Given the description of an element on the screen output the (x, y) to click on. 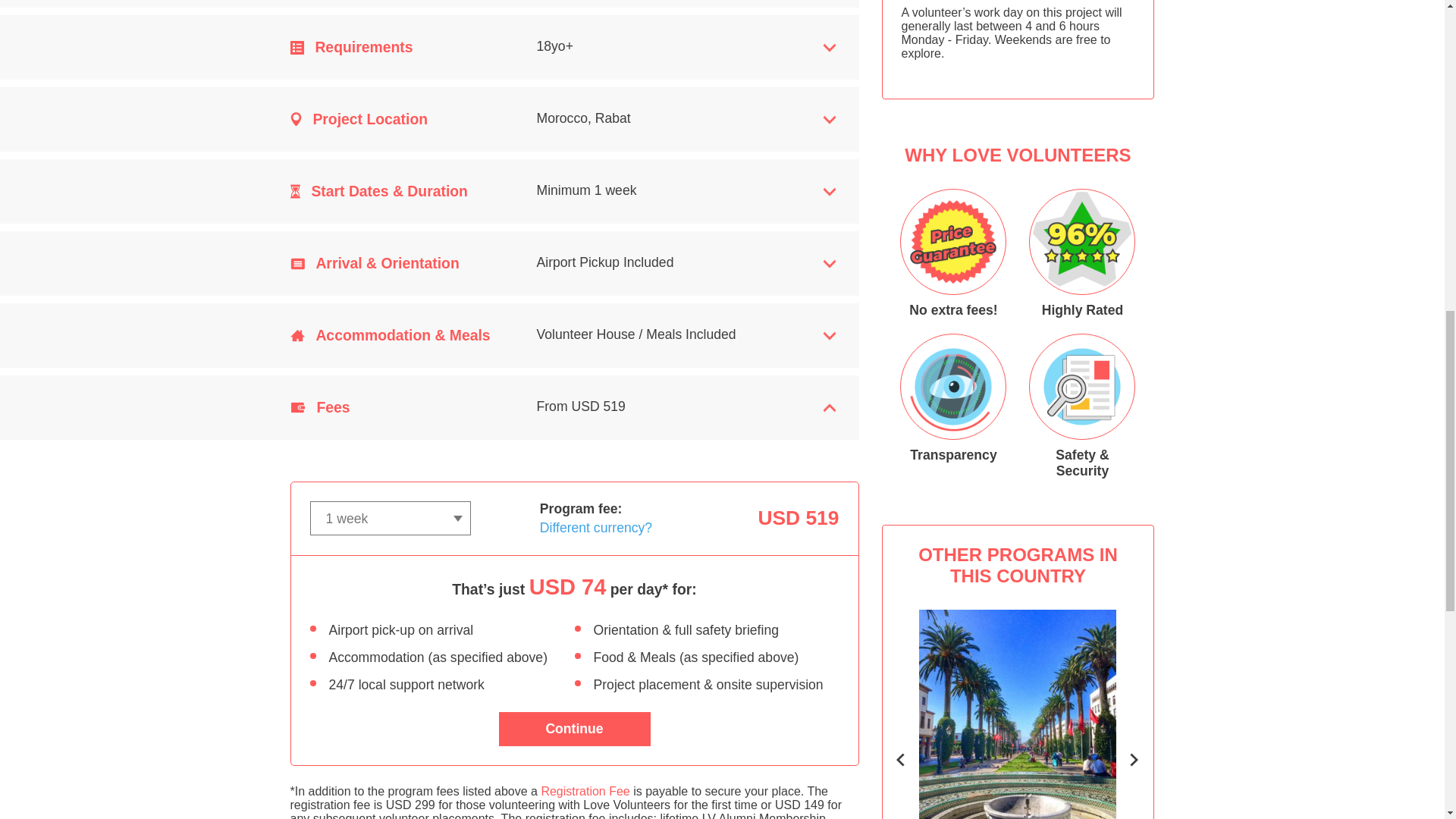
Registration Fee (584, 790)
Continue (574, 728)
Different currency? (1017, 714)
